Given the description of an element on the screen output the (x, y) to click on. 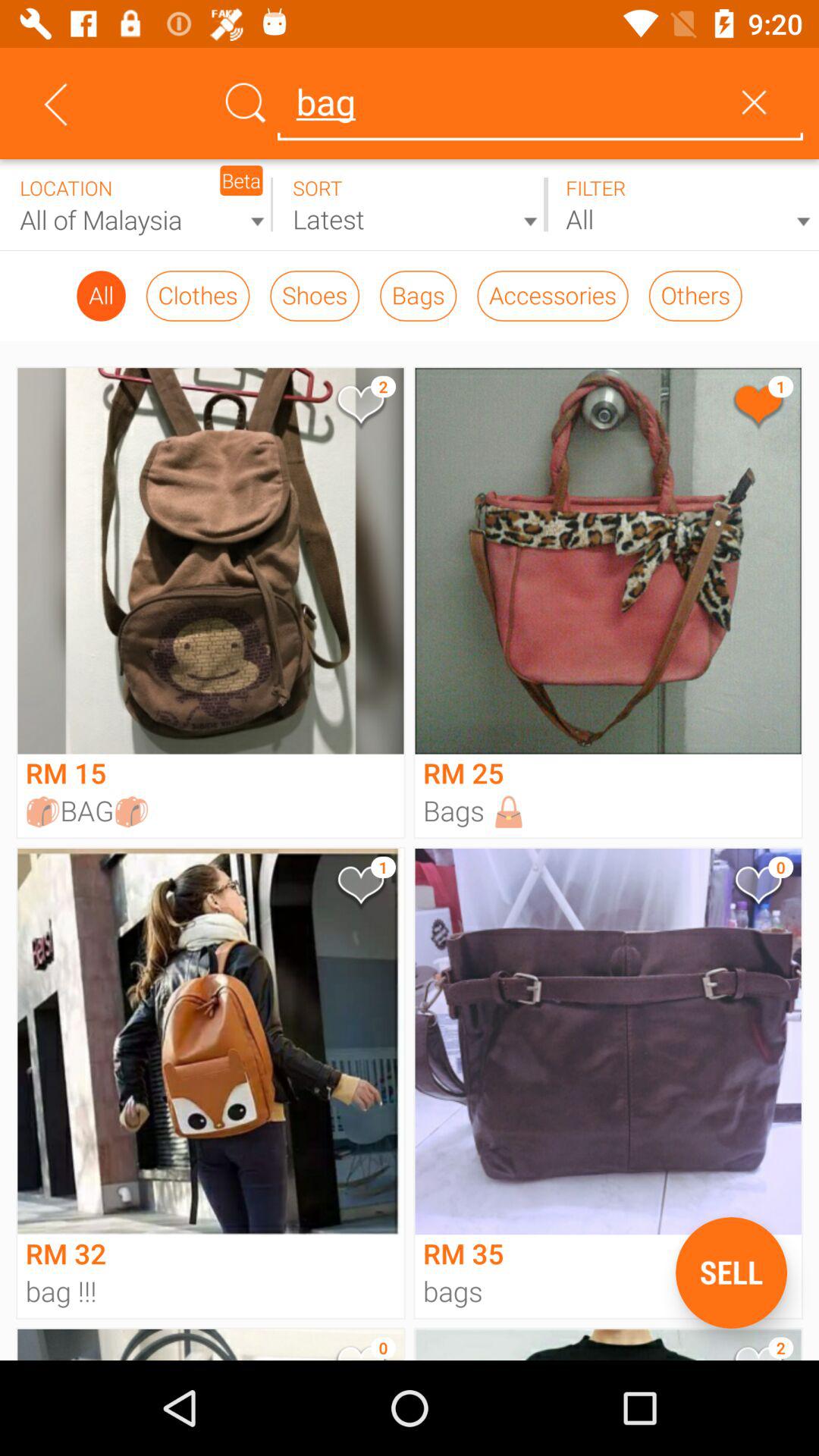
filter search results (682, 204)
